Given the description of an element on the screen output the (x, y) to click on. 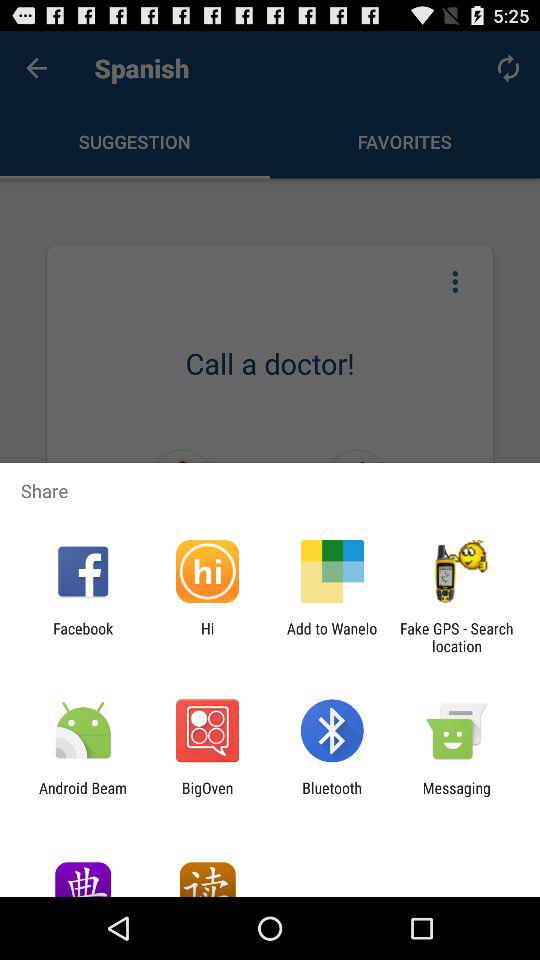
turn on the app next to hi (331, 637)
